Given the description of an element on the screen output the (x, y) to click on. 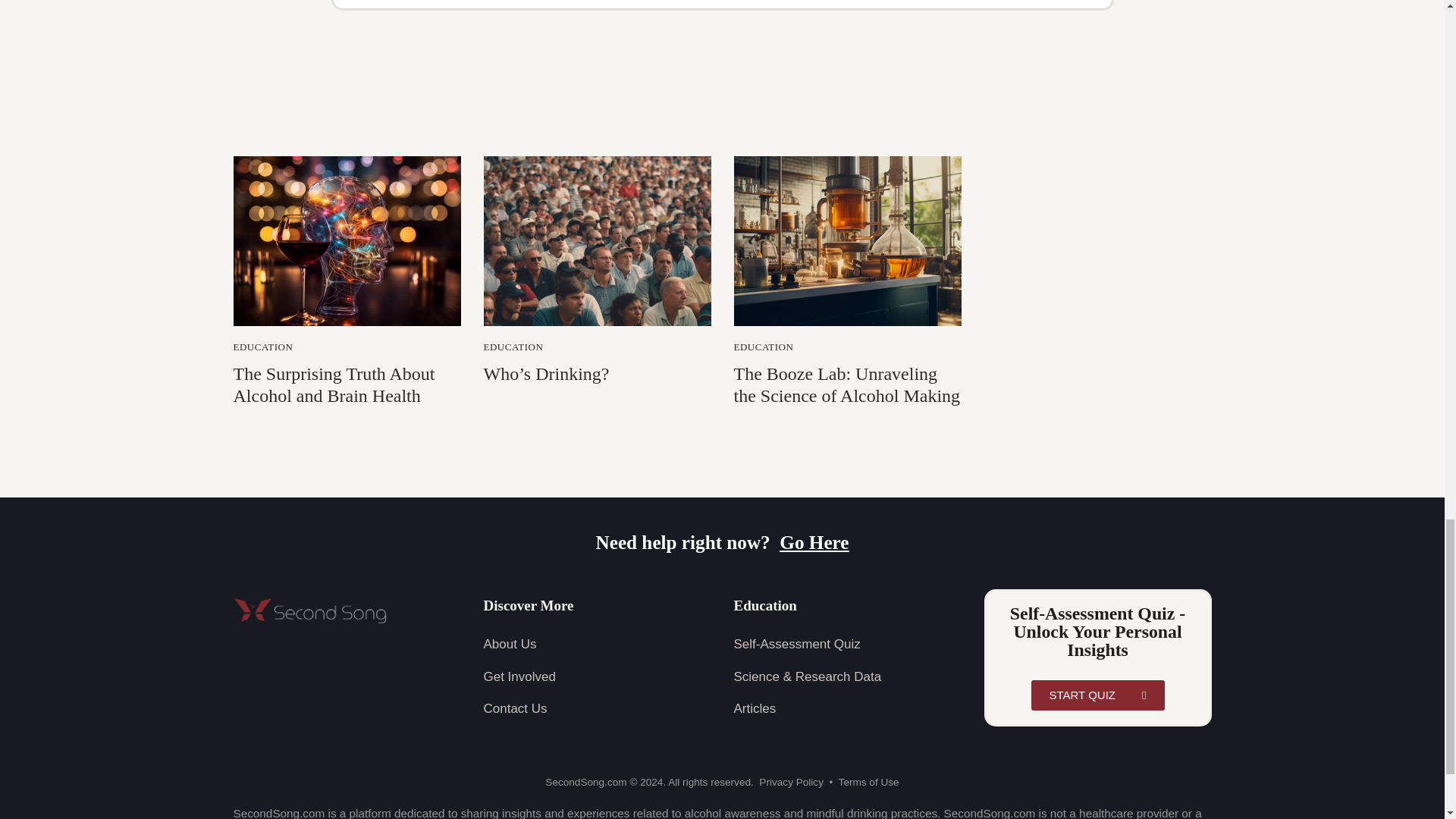
EDUCATION (263, 346)
The Surprising Truth About Alcohol and Brain Health (346, 385)
